Given the description of an element on the screen output the (x, y) to click on. 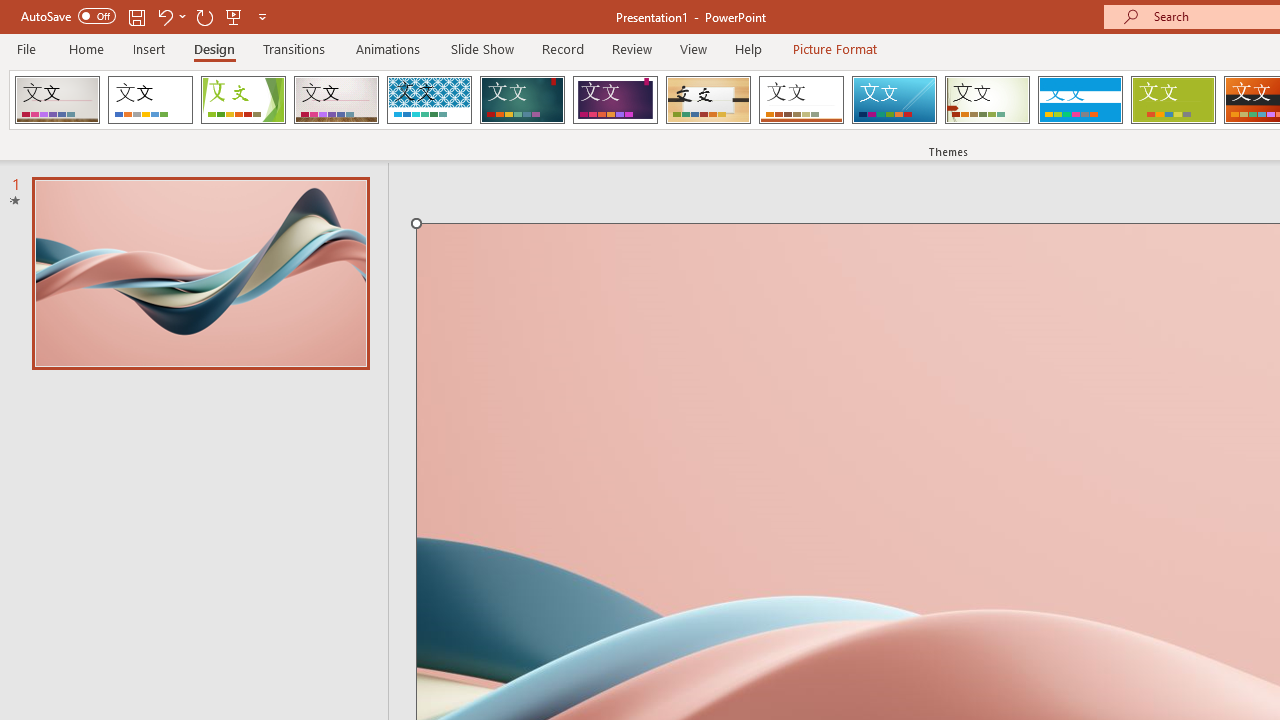
Banded (1080, 100)
